Given the description of an element on the screen output the (x, y) to click on. 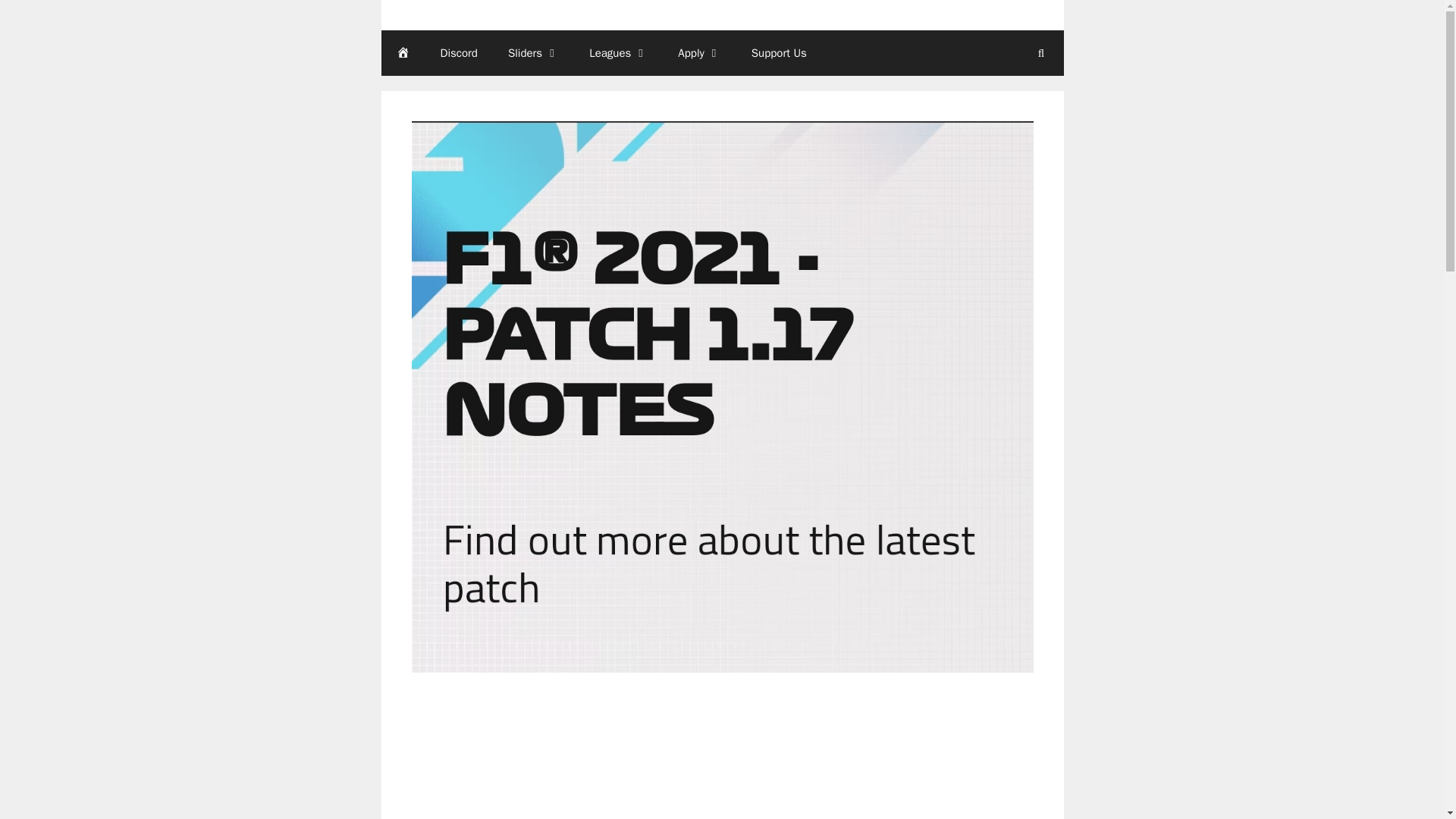
Advertisement (721, 758)
Home (402, 53)
Leagues (617, 53)
Support Us (779, 53)
Apply (698, 53)
Sliders (533, 53)
Discord (458, 53)
